Given the description of an element on the screen output the (x, y) to click on. 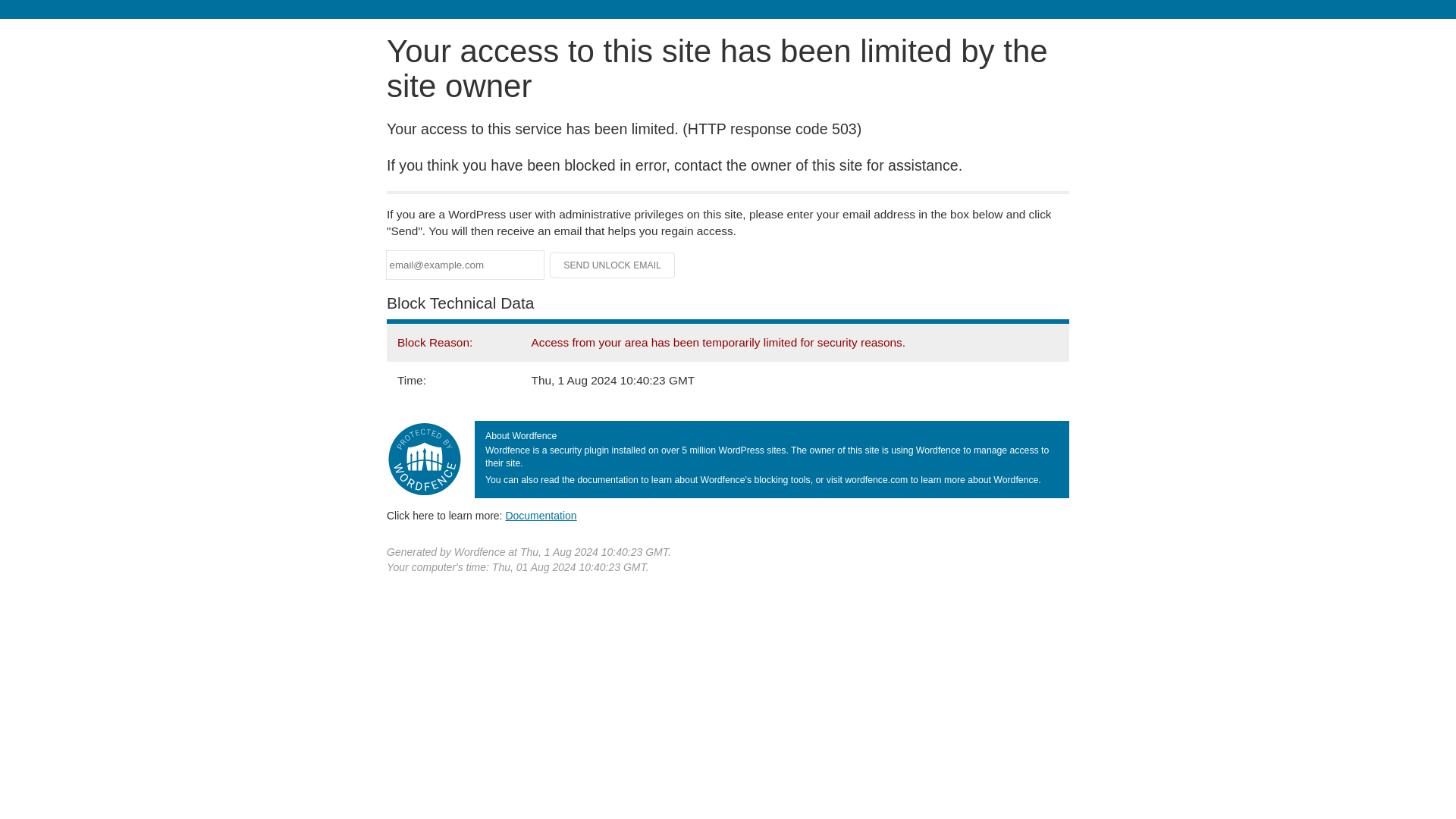
Documentation (540, 515)
Send Unlock Email (612, 265)
Send Unlock Email (612, 265)
